Given the description of an element on the screen output the (x, y) to click on. 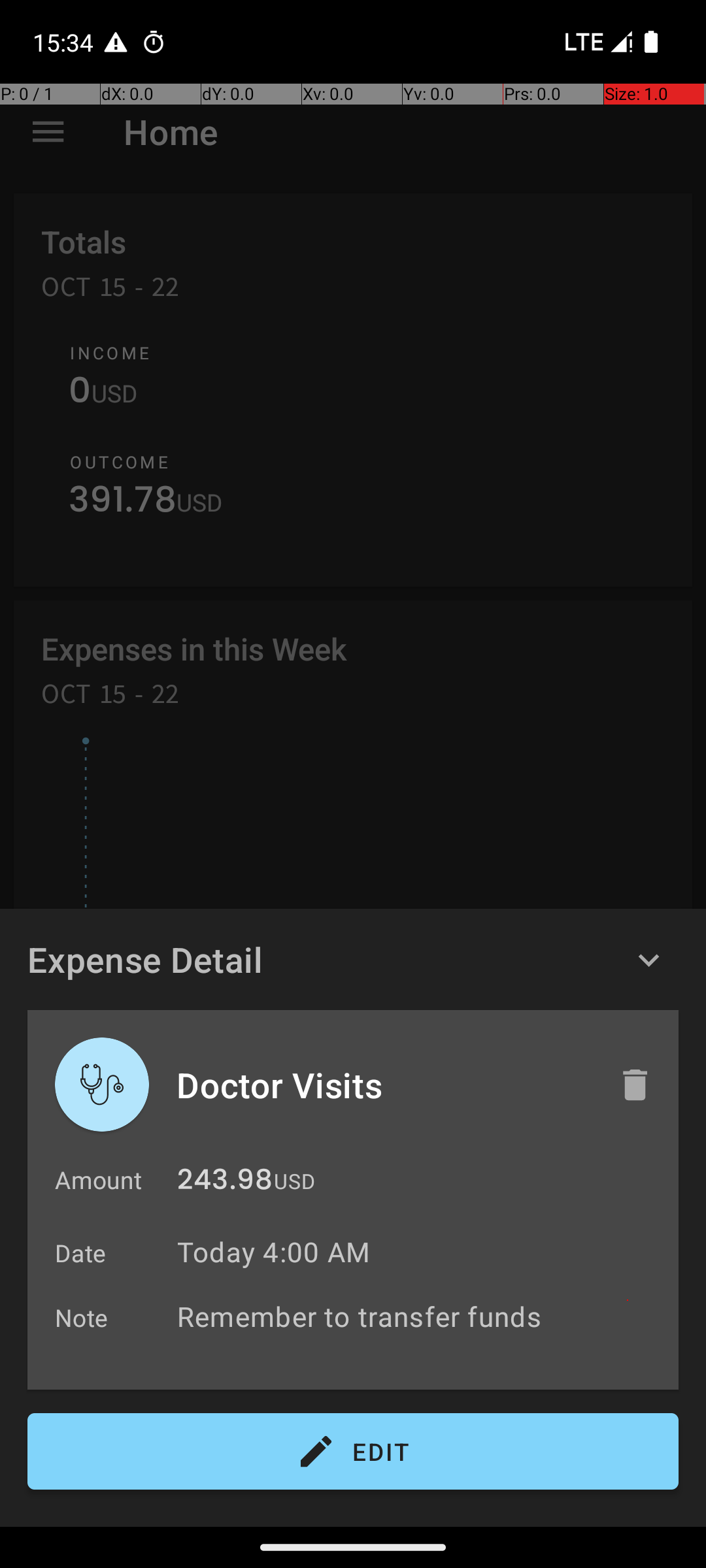
Doctor Visits Element type: android.widget.TextView (383, 1084)
243.98 Element type: android.widget.TextView (224, 1182)
Today 4:00 AM Element type: android.widget.TextView (273, 1251)
Remember to transfer funds Element type: android.widget.TextView (420, 1315)
